Given the description of an element on the screen output the (x, y) to click on. 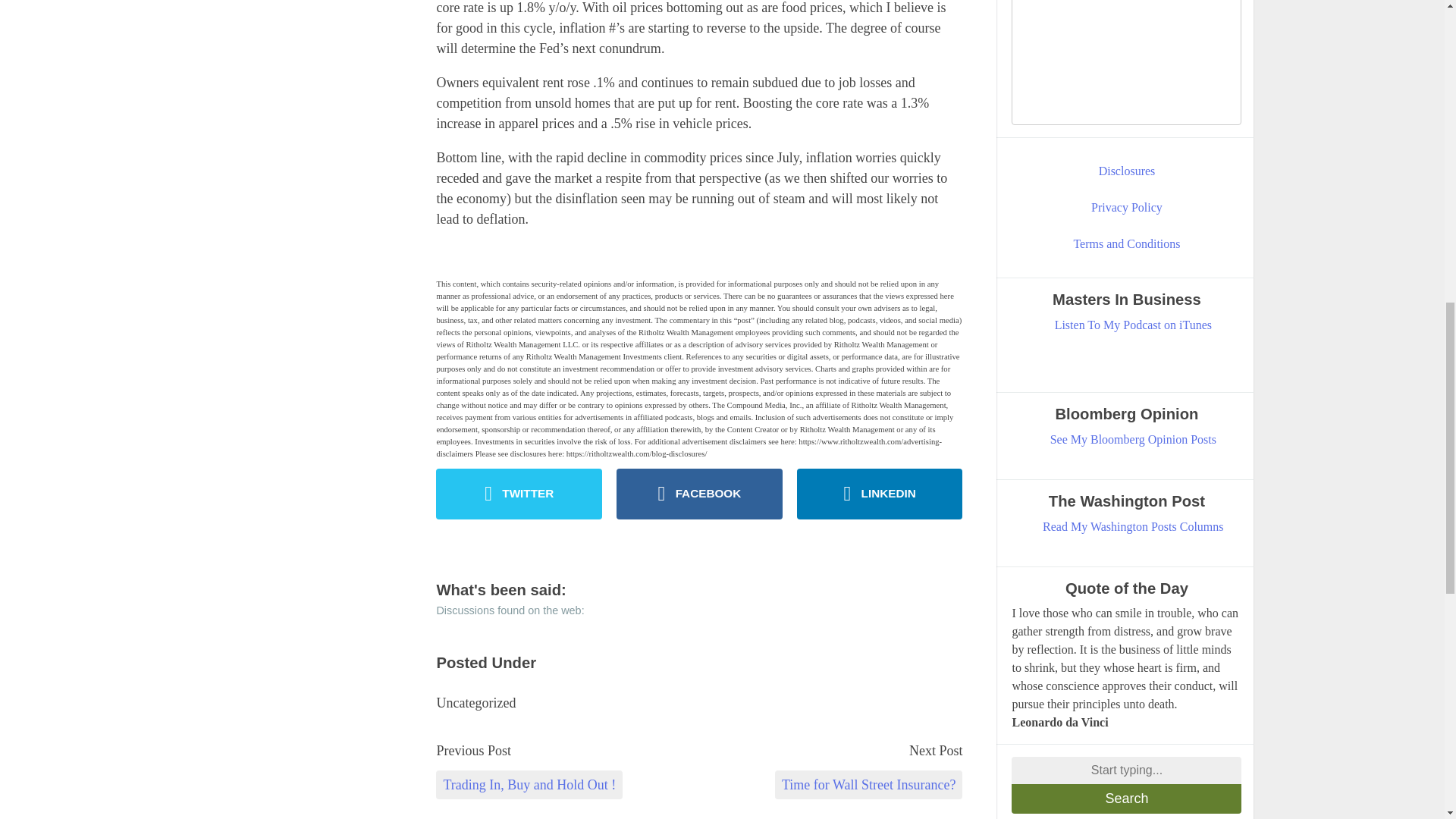
Trading In, Buy and Hold Out ! (529, 784)
Listen To My Podcast on iTunes (1132, 325)
See My Bloomberg Opinion Posts (1132, 439)
TWITTER (518, 493)
Search (1126, 798)
Disclosures (1126, 171)
Privacy Policy (1126, 208)
Terms and Conditions (1126, 244)
Time for Wall Street Insurance? (868, 784)
LINKEDIN (879, 493)
Read My Washington Posts Columns (1132, 526)
Search (1126, 798)
Search (1126, 798)
FACEBOOK (699, 493)
